Given the description of an element on the screen output the (x, y) to click on. 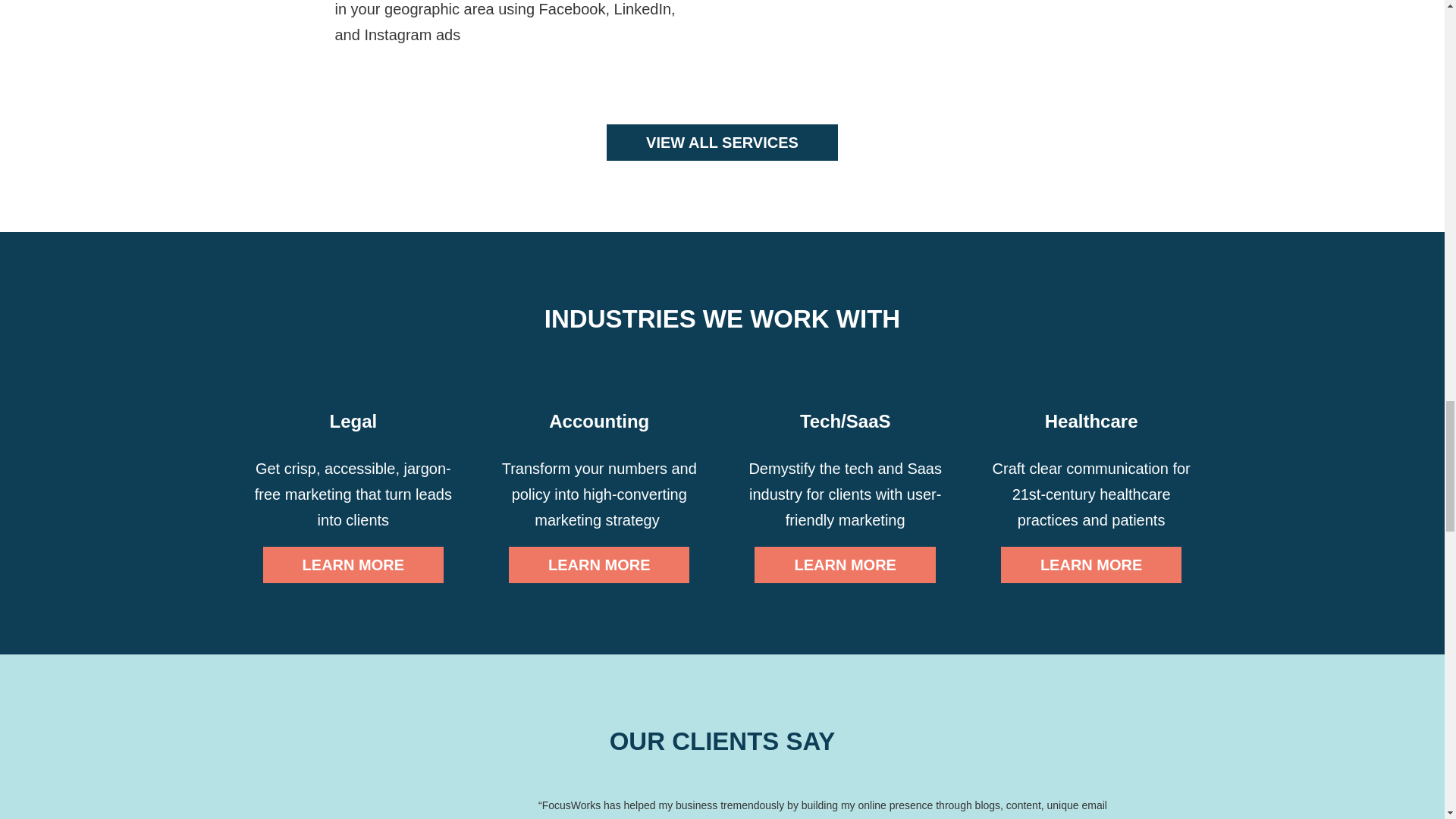
LEARN MORE (844, 565)
LEARN MORE (353, 565)
LEARN MORE (598, 565)
LEARN MORE (1090, 565)
Services-Homepage-ny (956, 48)
VIEW ALL SERVICES (722, 142)
